Given the description of an element on the screen output the (x, y) to click on. 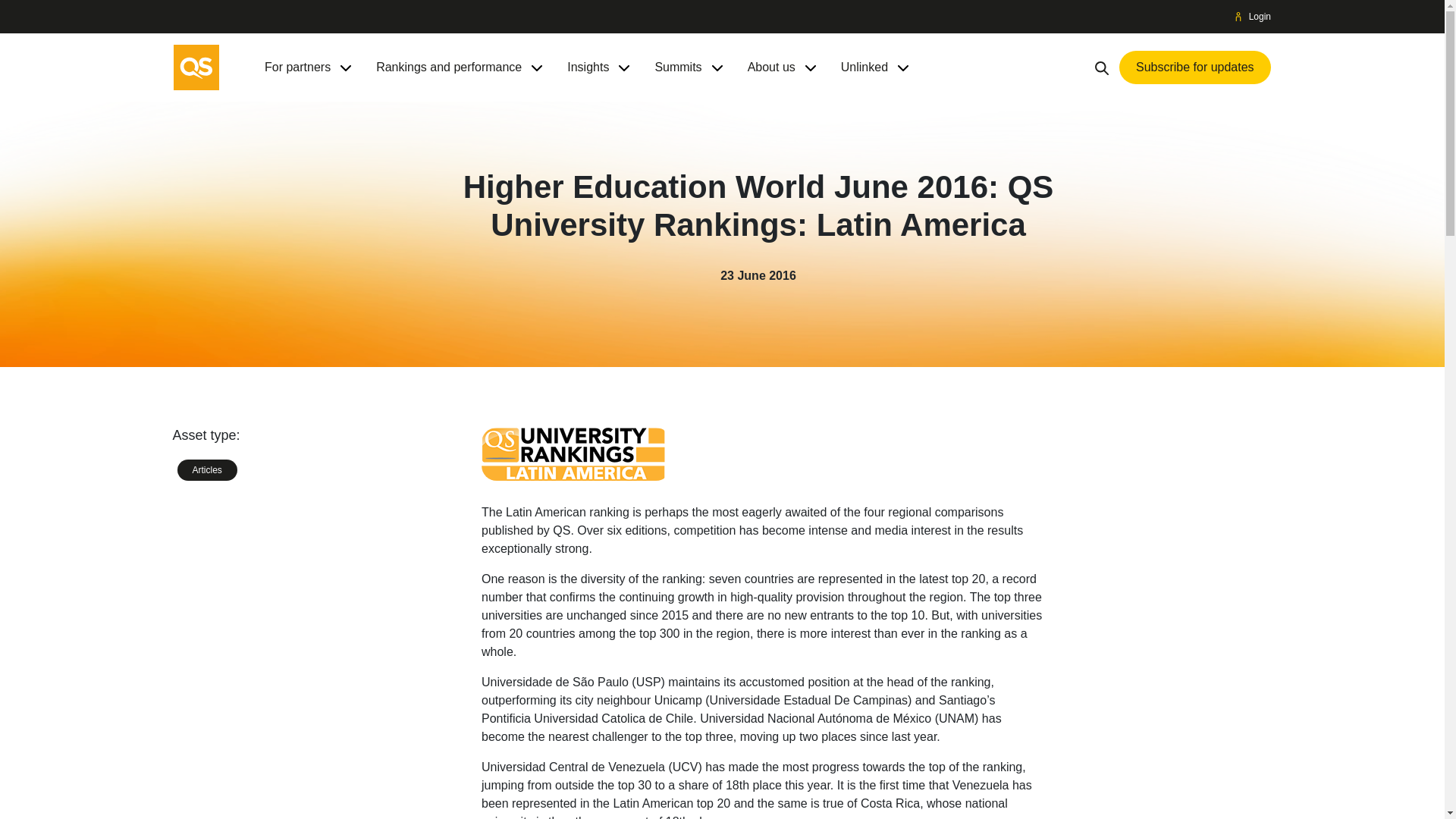
For partners (297, 67)
Login (1252, 17)
For partners (297, 67)
Rankings and performance (448, 67)
Insights (587, 67)
